Given the description of an element on the screen output the (x, y) to click on. 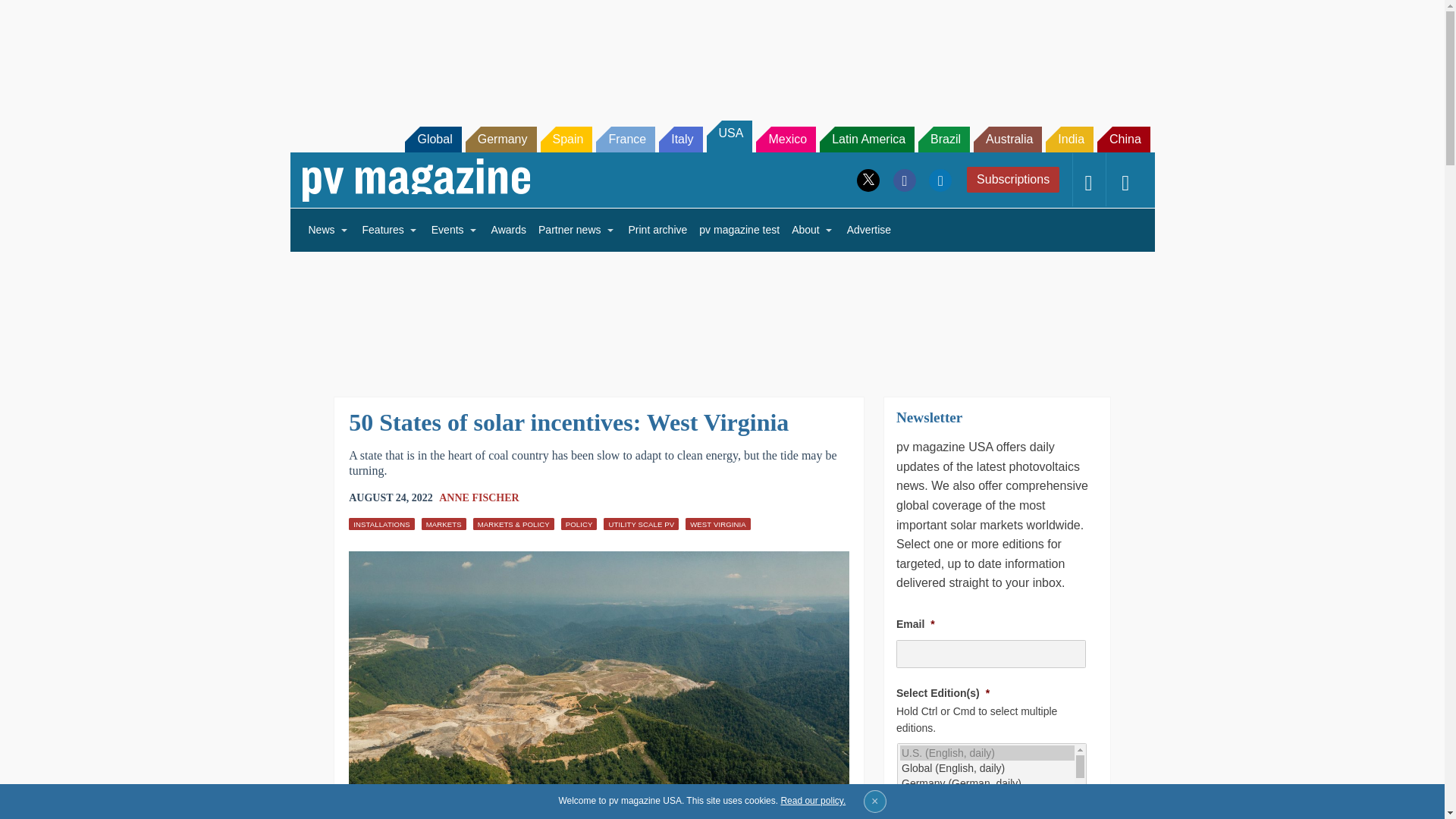
Wednesday, August 24, 2022, 1:38 pm (390, 497)
USA (729, 136)
Spain (566, 139)
3rd party ad content (721, 314)
Posts by Anne Fischer (478, 497)
Mexico (785, 139)
Australia (1008, 139)
India (1069, 139)
3rd party ad content (721, 51)
Brazil (943, 139)
China (1123, 139)
Global (432, 139)
Italy (680, 139)
pv magazine - Photovoltaics Markets and Technology (415, 179)
pv magazine - Photovoltaics Markets and Technology (415, 180)
